Given the description of an element on the screen output the (x, y) to click on. 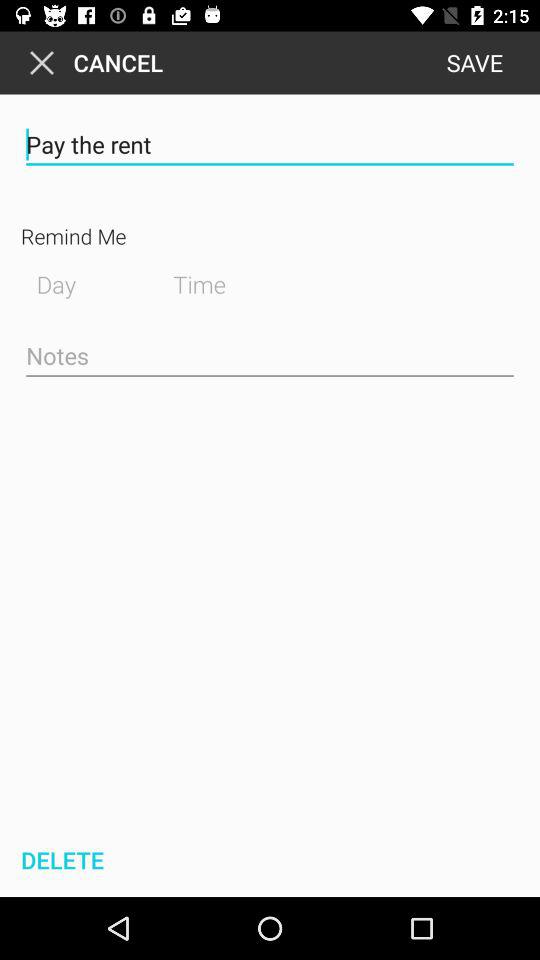
tap the icon above delete item (270, 356)
